Given the description of an element on the screen output the (x, y) to click on. 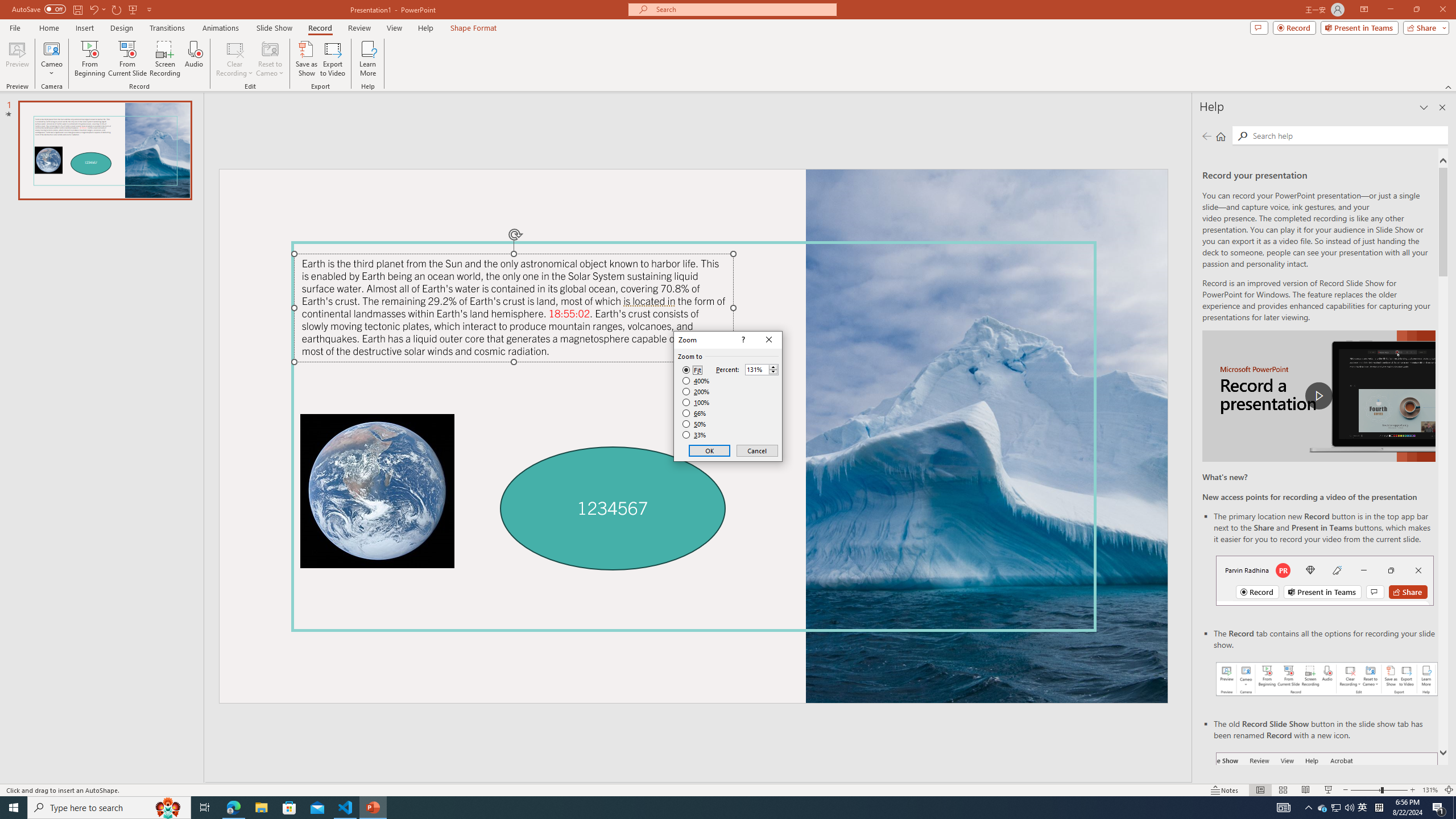
Fit (691, 370)
Percent (761, 369)
